Given the description of an element on the screen output the (x, y) to click on. 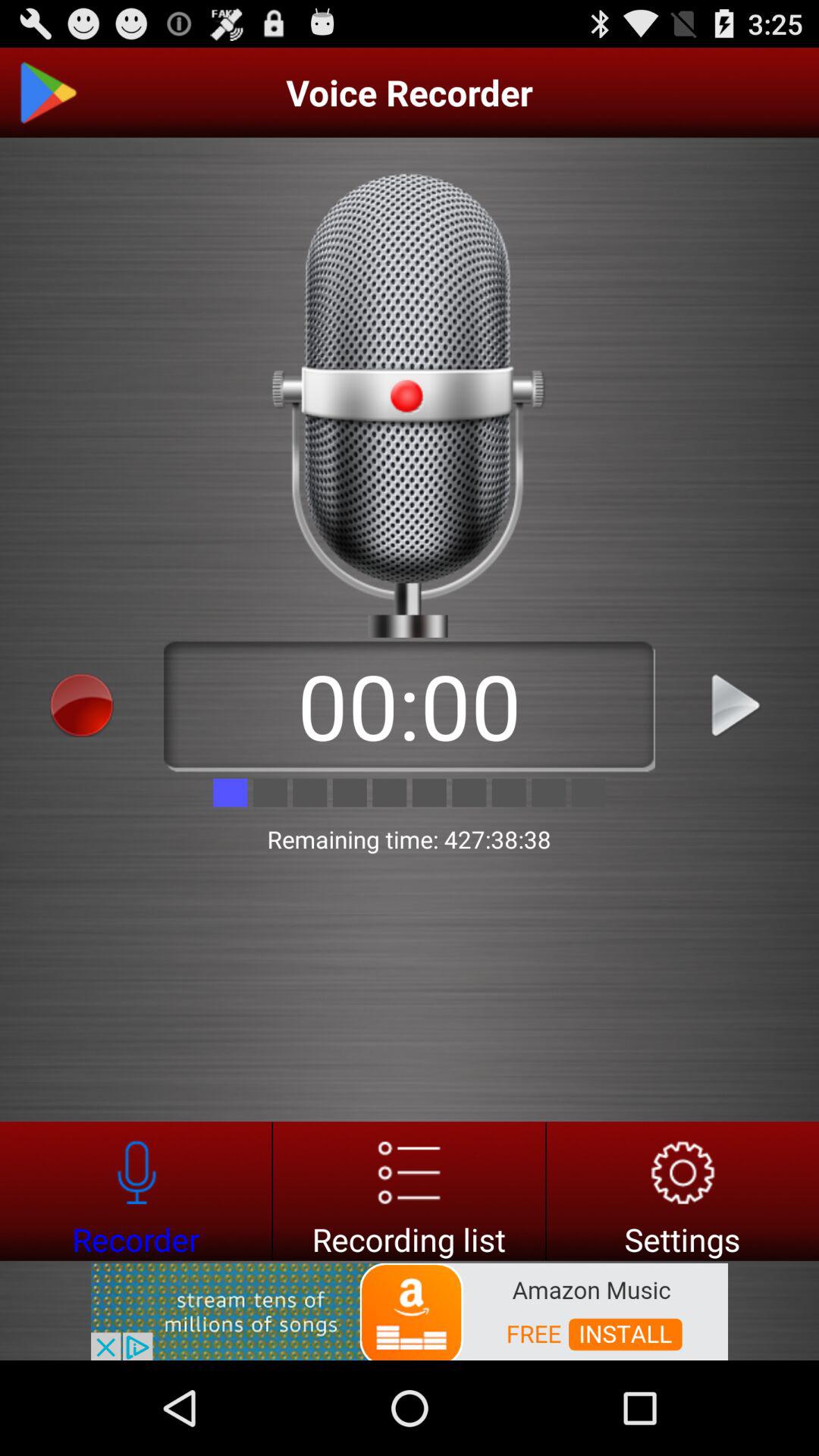
go do recording list (409, 1190)
